Given the description of an element on the screen output the (x, y) to click on. 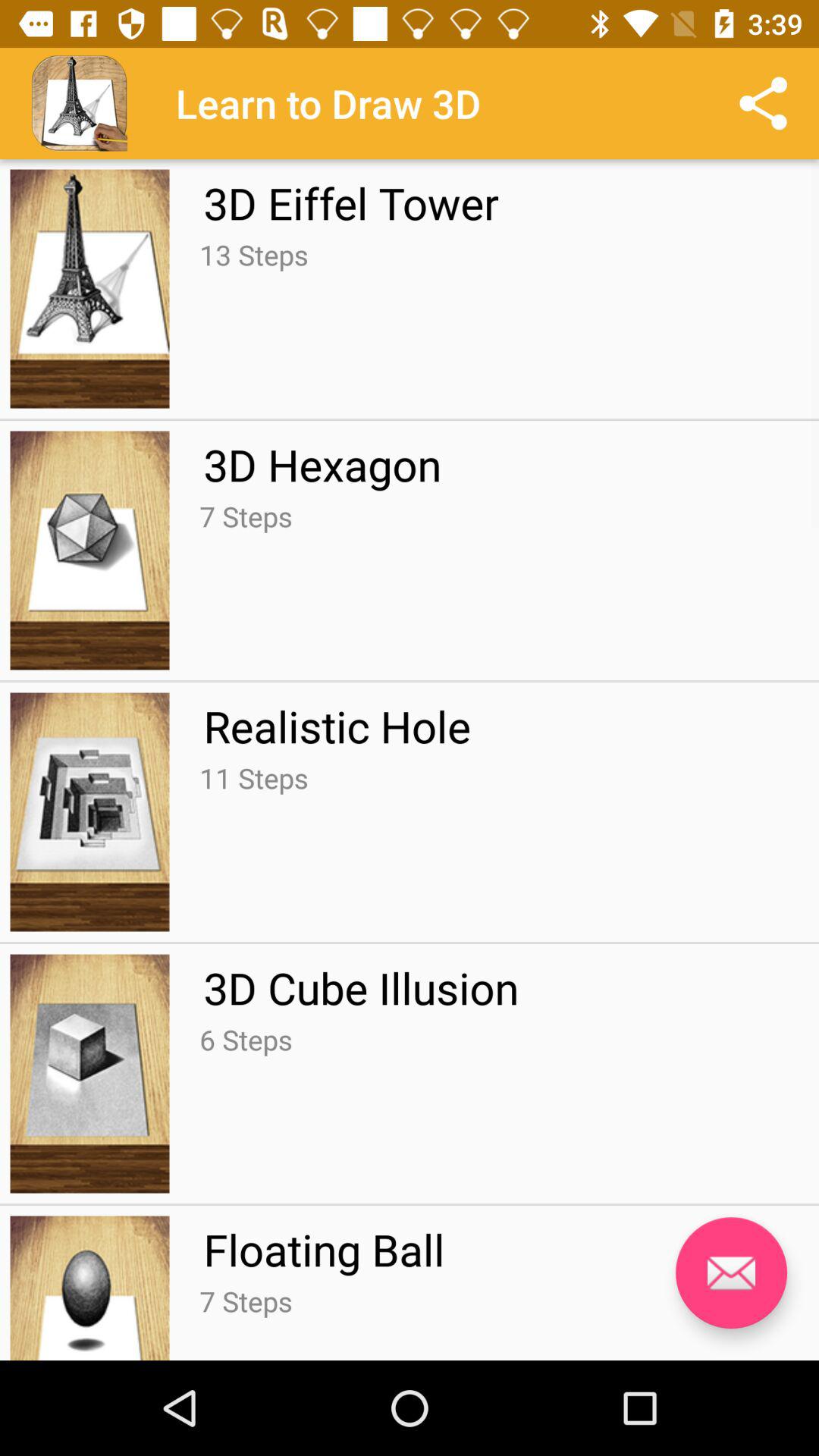
tap icon below the learn to draw app (350, 202)
